Given the description of an element on the screen output the (x, y) to click on. 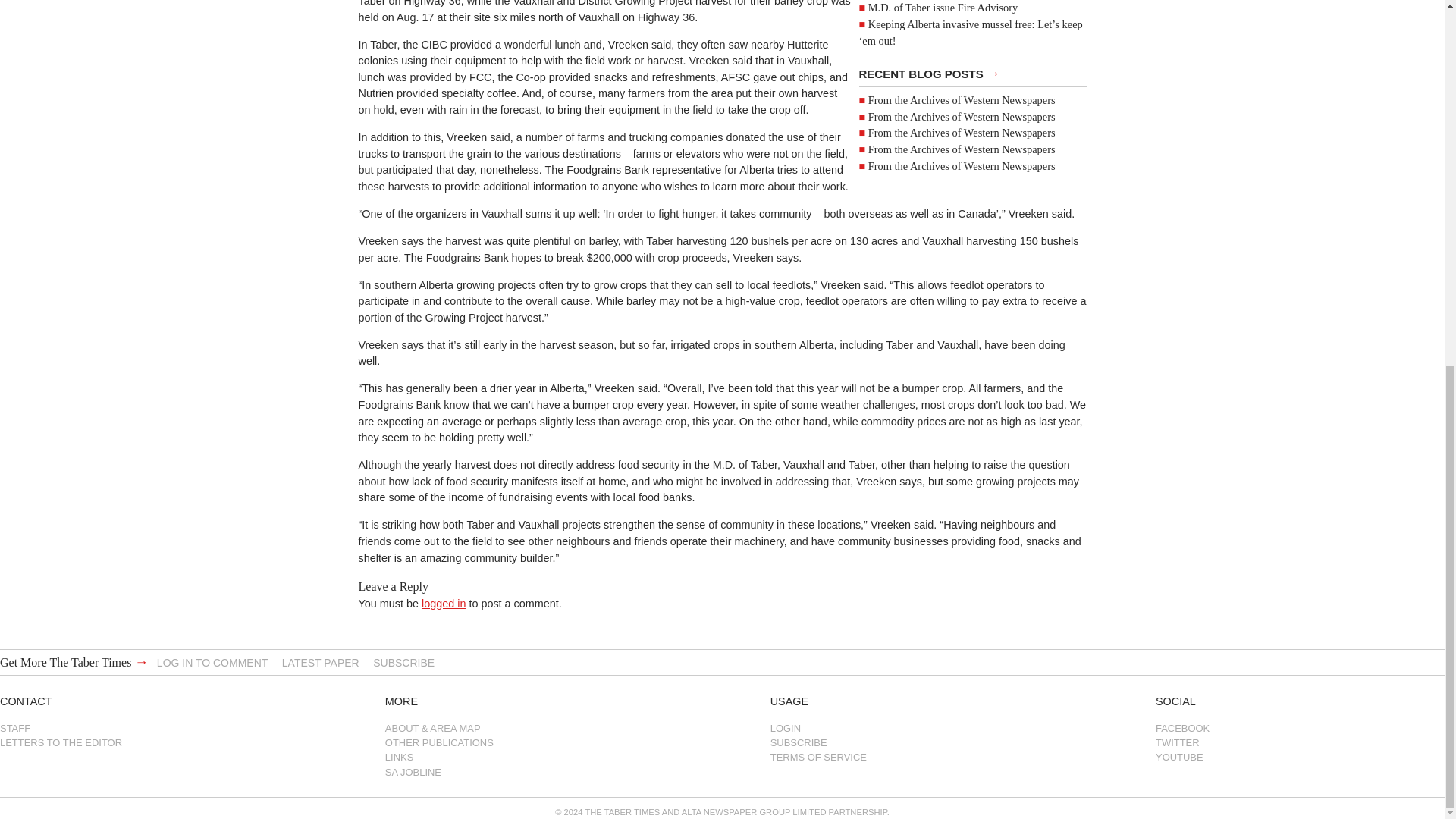
From the Archives of Western Newspapers (961, 100)
From the Archives of Western Newspapers (961, 149)
From the Archives of Western Newspapers (961, 132)
From the Archives of Western Newspapers (961, 164)
M.D. of Taber issue Fire Advisory (942, 7)
From the Archives of Western Newspapers (961, 116)
